Given the description of an element on the screen output the (x, y) to click on. 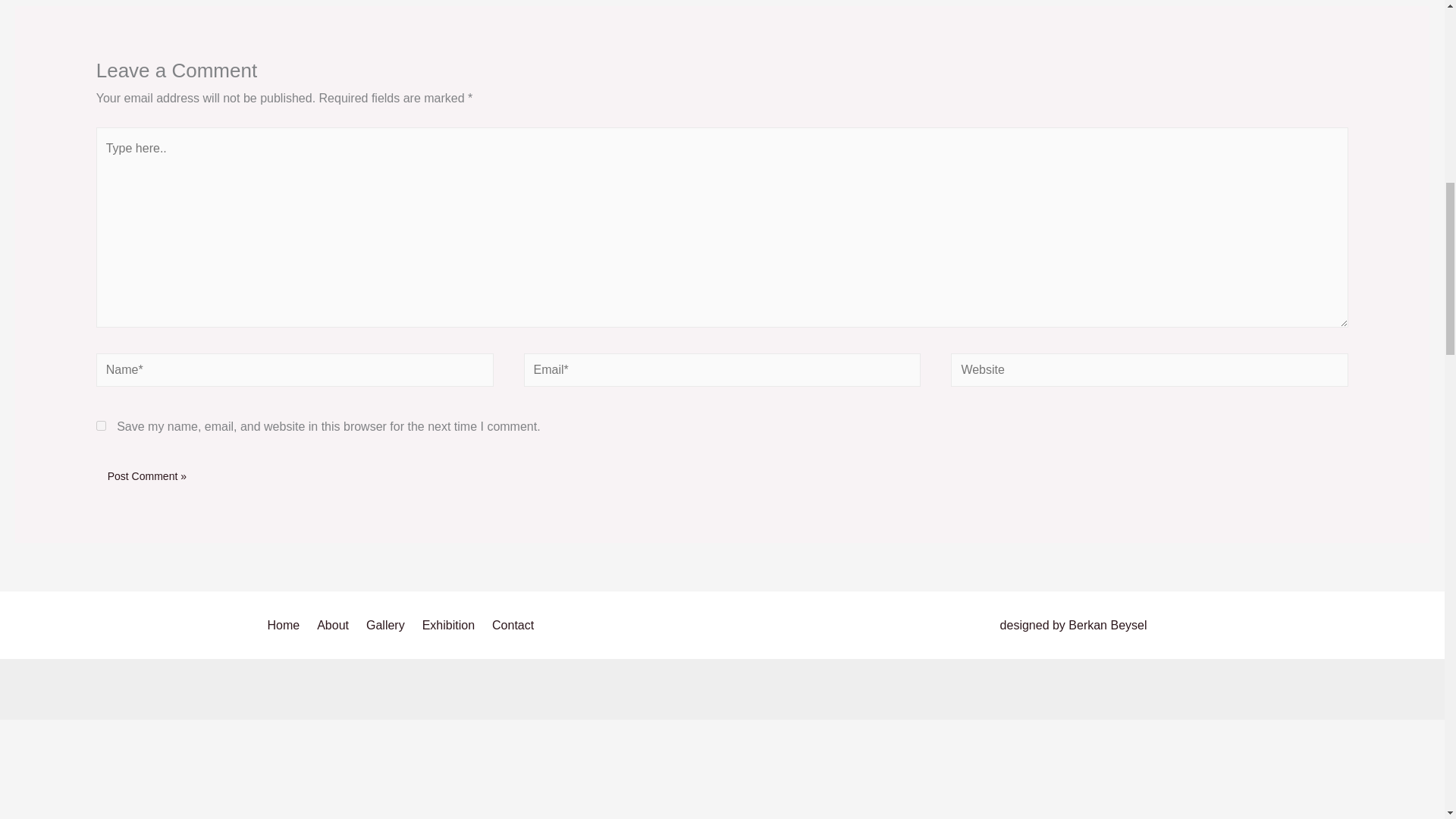
yes (101, 425)
Contact (515, 625)
Home (288, 625)
Gallery (387, 625)
About (335, 625)
Exhibition (451, 625)
